Given the description of an element on the screen output the (x, y) to click on. 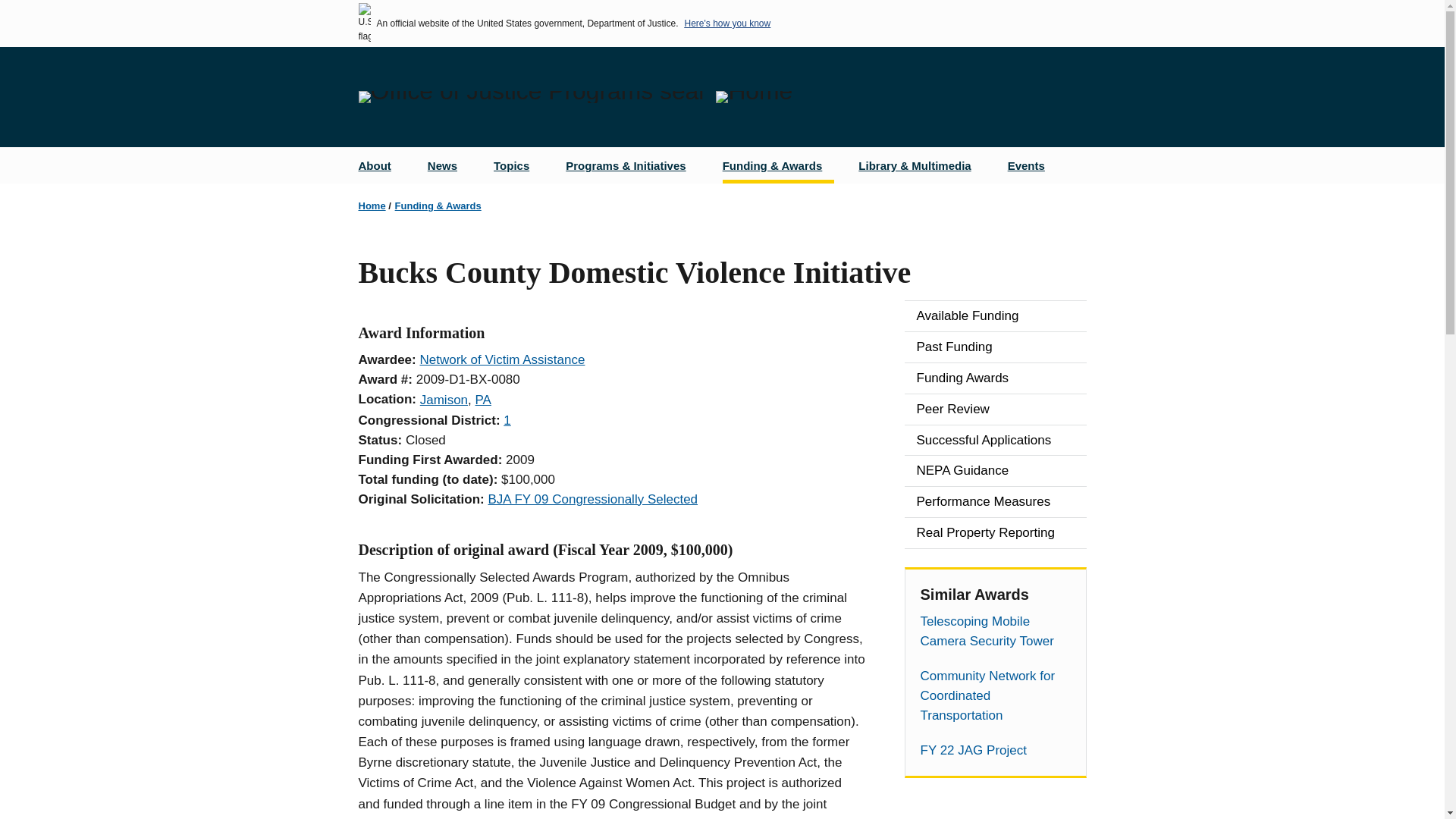
Community Network for Coordinated Transportation (995, 695)
PA (484, 400)
Office of Justice Programs (530, 96)
Topics (517, 165)
FY 22 JAG Project (995, 750)
Performance Measures (995, 501)
Community Network for Coordinated Transportation (995, 695)
Telescoping Mobile Camera Security Tower (995, 631)
Events (1031, 165)
Jamison (443, 400)
Network of Victim Assistance (502, 359)
Home (754, 96)
Available Funding (995, 316)
BJA FY 09 Congressionally Selected (592, 499)
